Given the description of an element on the screen output the (x, y) to click on. 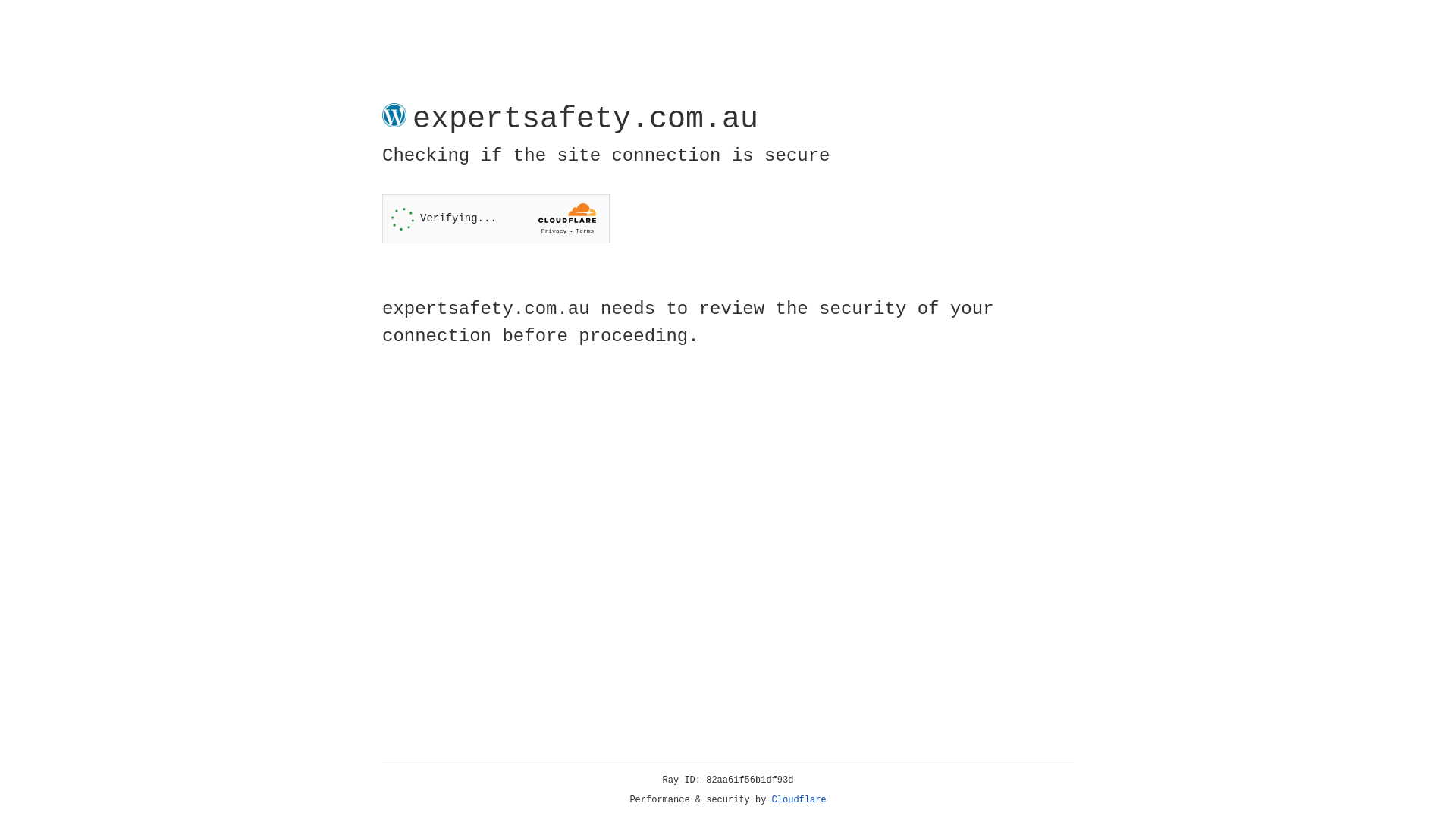
Cloudflare Element type: text (798, 799)
Widget containing a Cloudflare security challenge Element type: hover (495, 218)
